Given the description of an element on the screen output the (x, y) to click on. 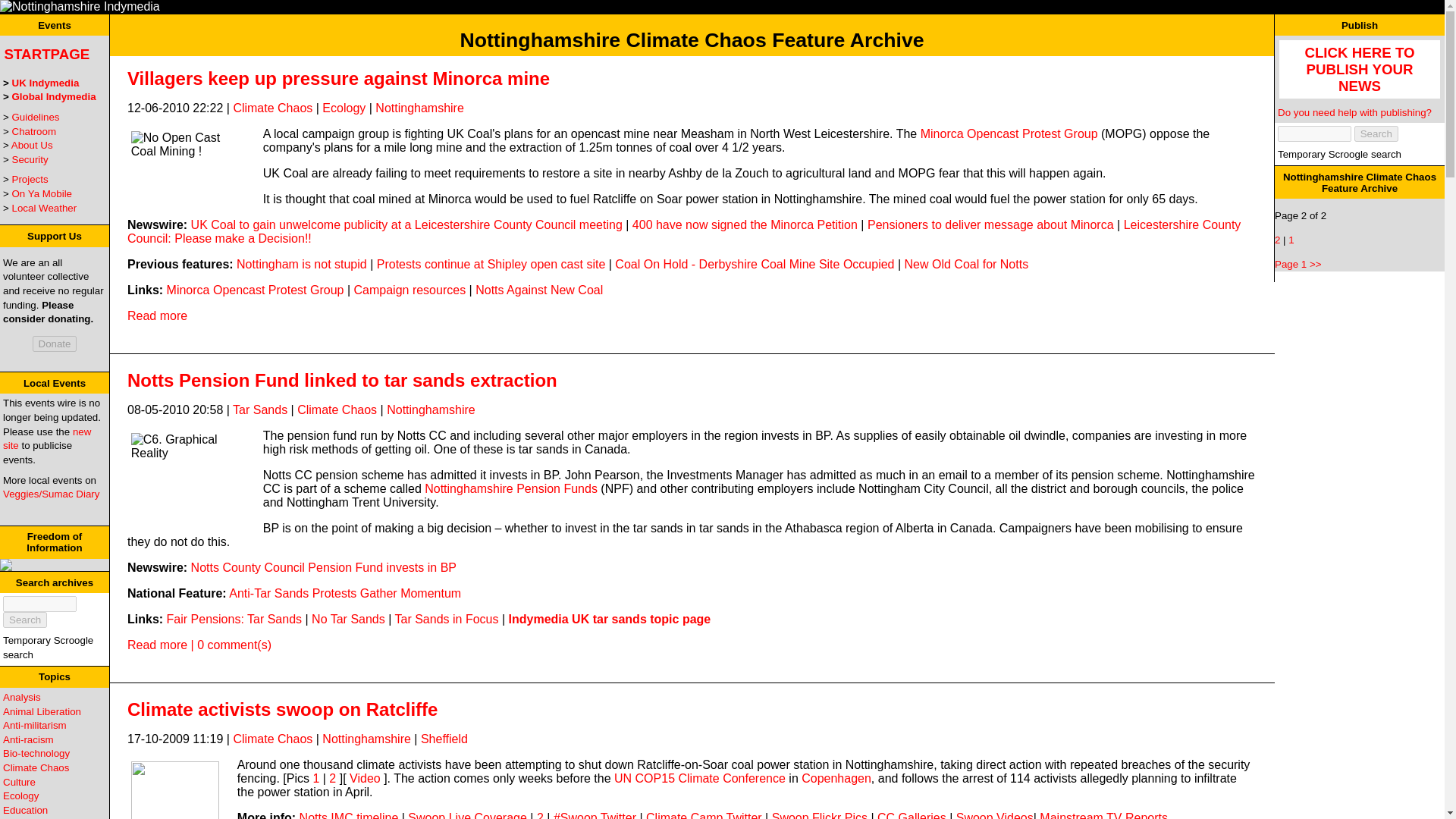
Peace and anti-war news. (34, 725)
Guidelines (35, 116)
Topics (54, 676)
Chatroom (33, 131)
Bio-technology (35, 753)
UK Indymedia (45, 82)
Anti-racism (27, 739)
Ecology (20, 795)
GM, GMOs, gene manipulation, patents. (35, 753)
